Given the description of an element on the screen output the (x, y) to click on. 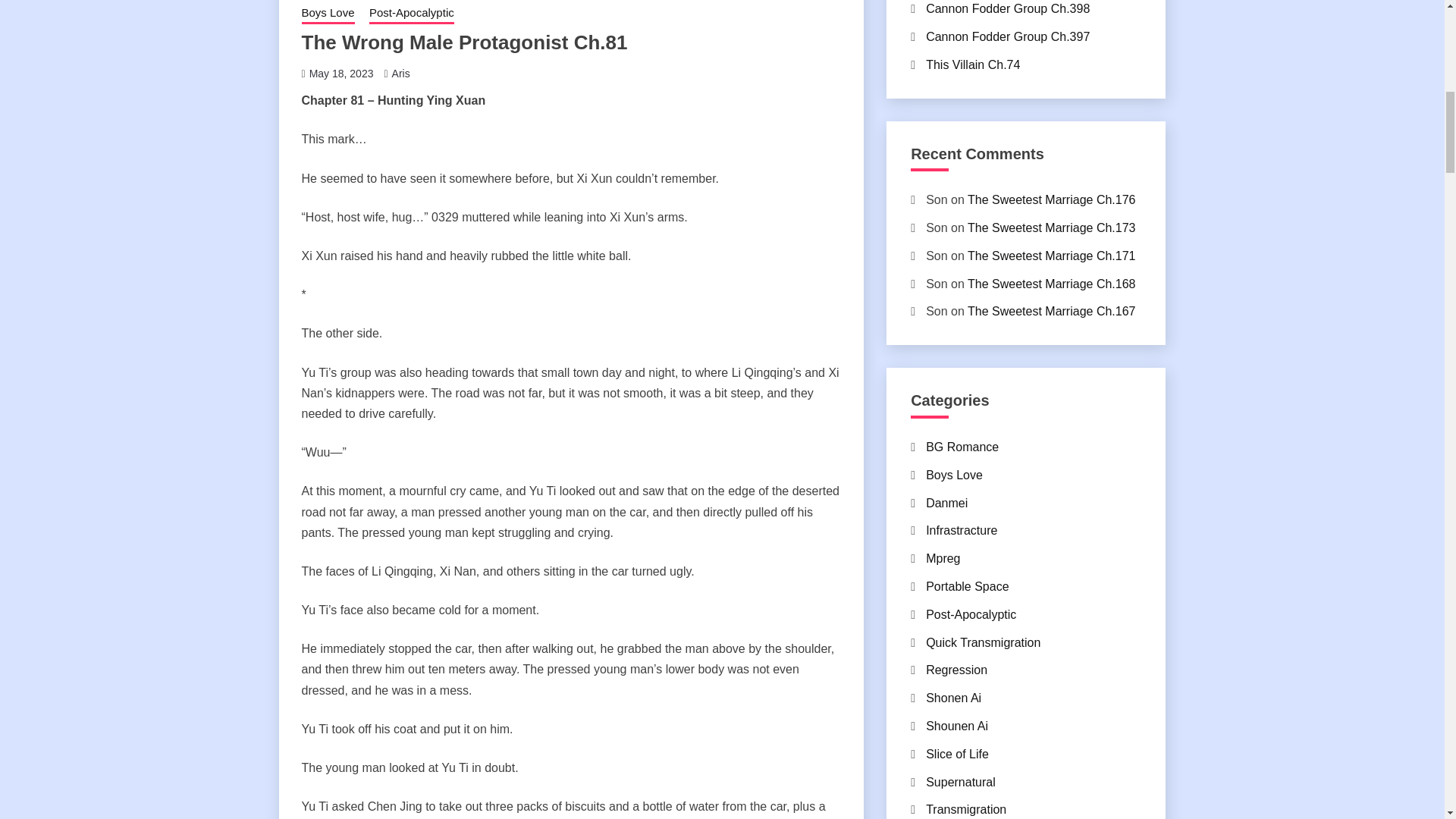
May 18, 2023 (341, 73)
Boys Love (328, 14)
Post-Apocalyptic (411, 14)
Aris (400, 73)
